Given the description of an element on the screen output the (x, y) to click on. 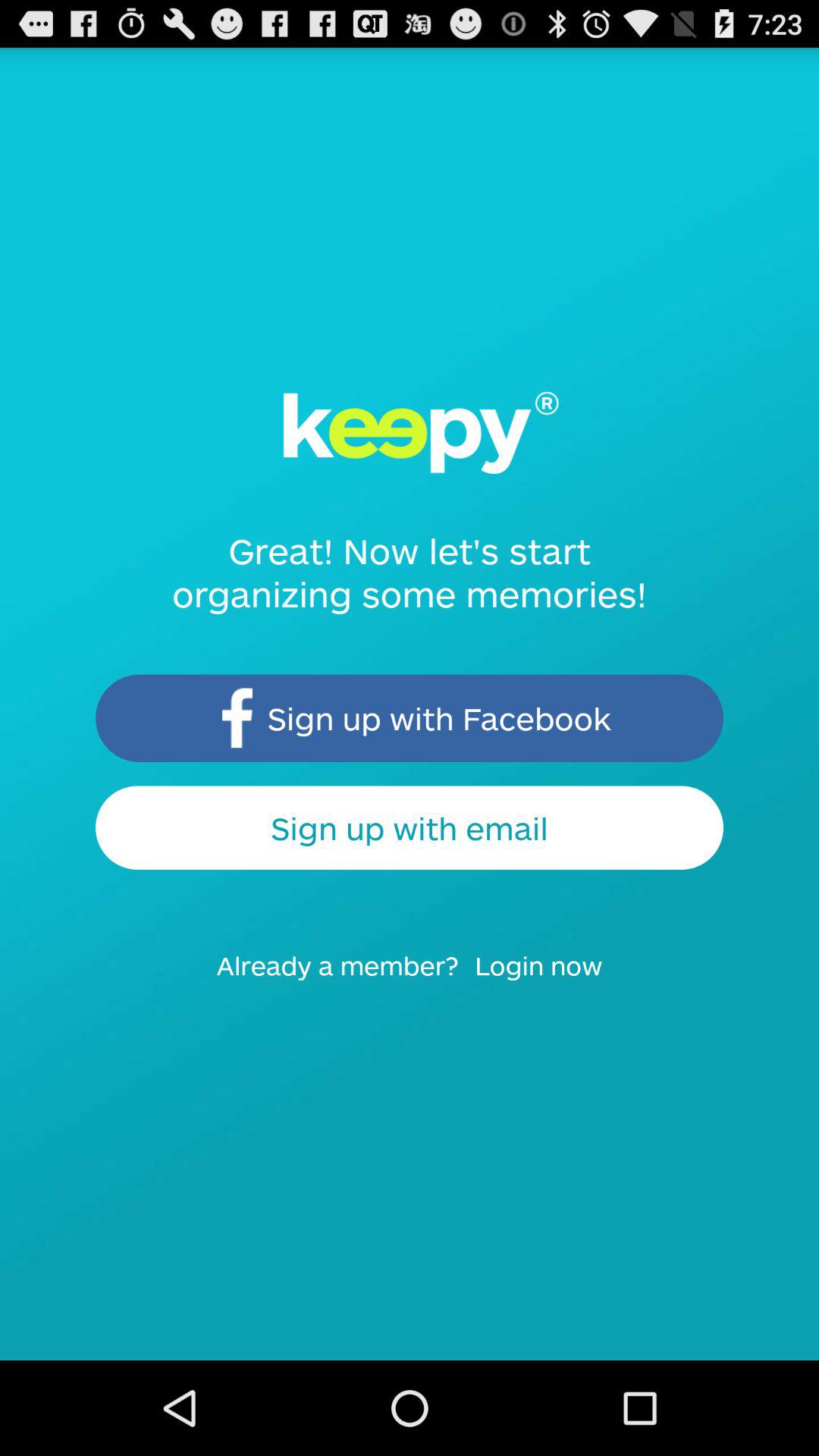
select button below the sign up with button (548, 980)
